Given the description of an element on the screen output the (x, y) to click on. 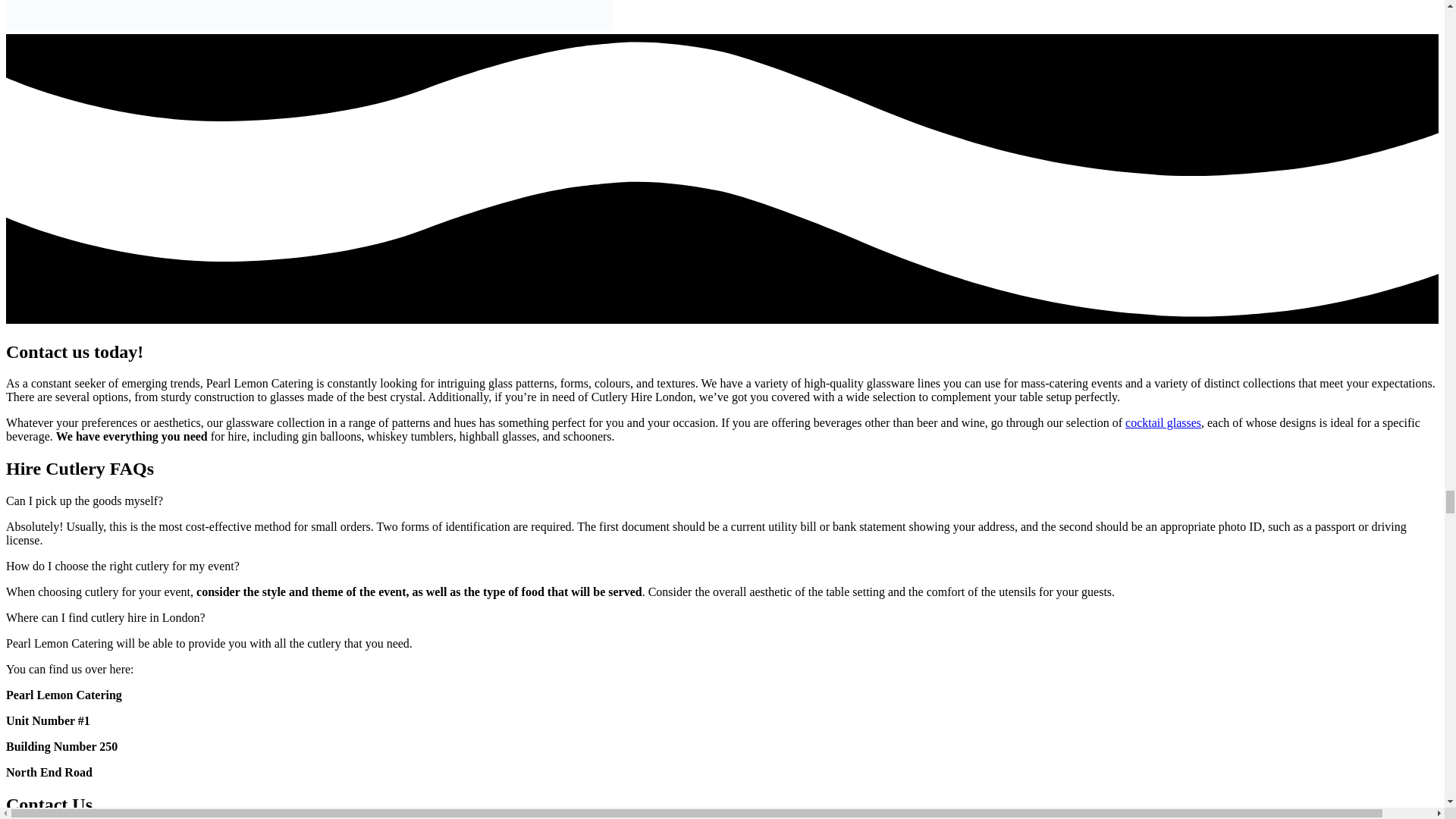
pearl lemon cutlery hire london (308, 15)
